Given the description of an element on the screen output the (x, y) to click on. 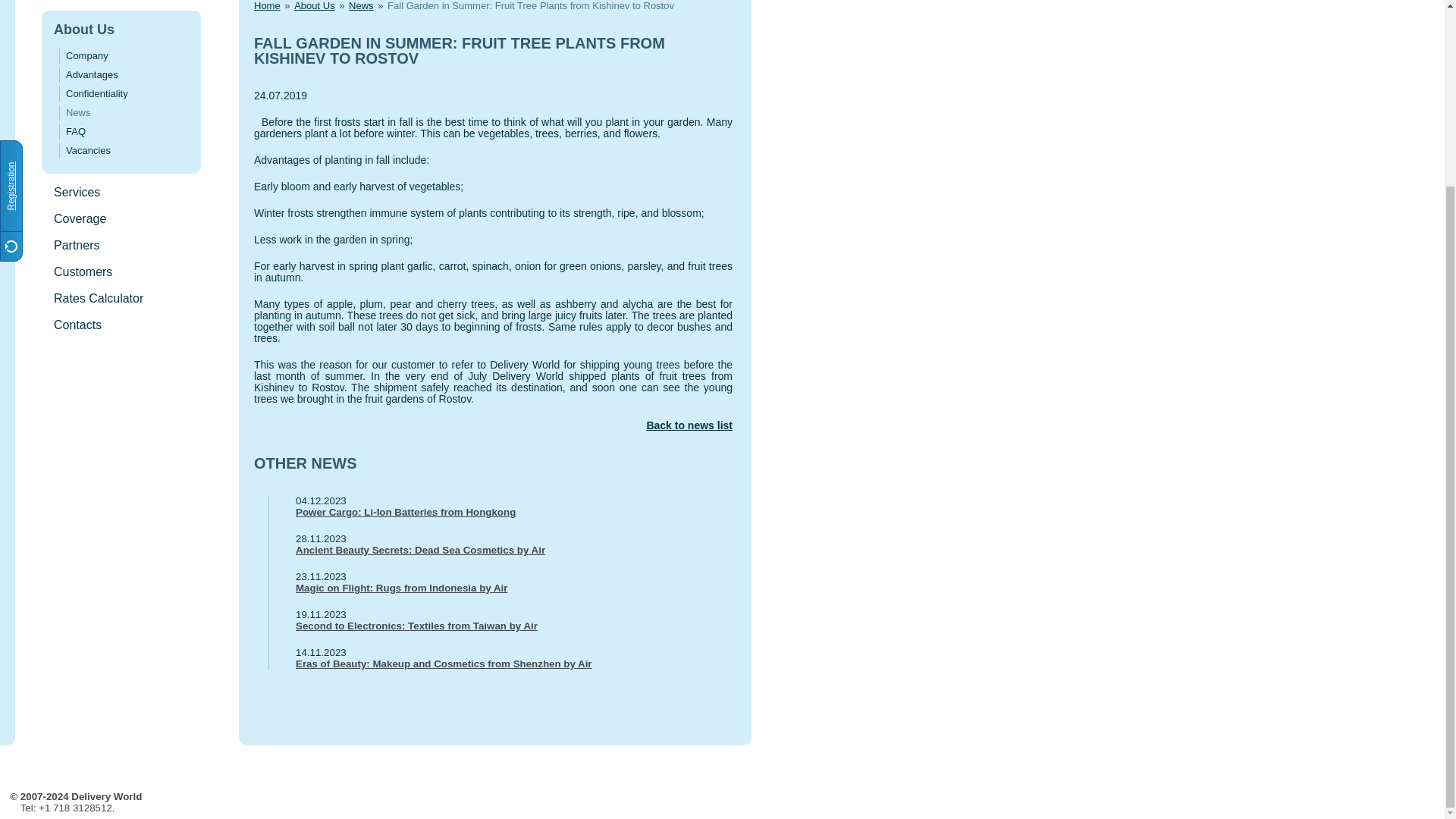
Confidentiality (96, 93)
Contacts (77, 324)
FAQ (75, 131)
Rates Calculator (97, 297)
Eras of Beauty: Makeup and Cosmetics from Shenzhen by Air (500, 663)
News (361, 5)
Services (76, 192)
About Us (314, 5)
About Us (84, 29)
Ancient Beauty Secrets: Dead Sea Cosmetics by Air (500, 550)
Customers (82, 271)
Power Cargo: Li-Ion Batteries from Hongkong (500, 511)
Magic on Flight: Rugs from Indonesia by Air (500, 587)
Company (86, 55)
Coverage (79, 218)
